Given the description of an element on the screen output the (x, y) to click on. 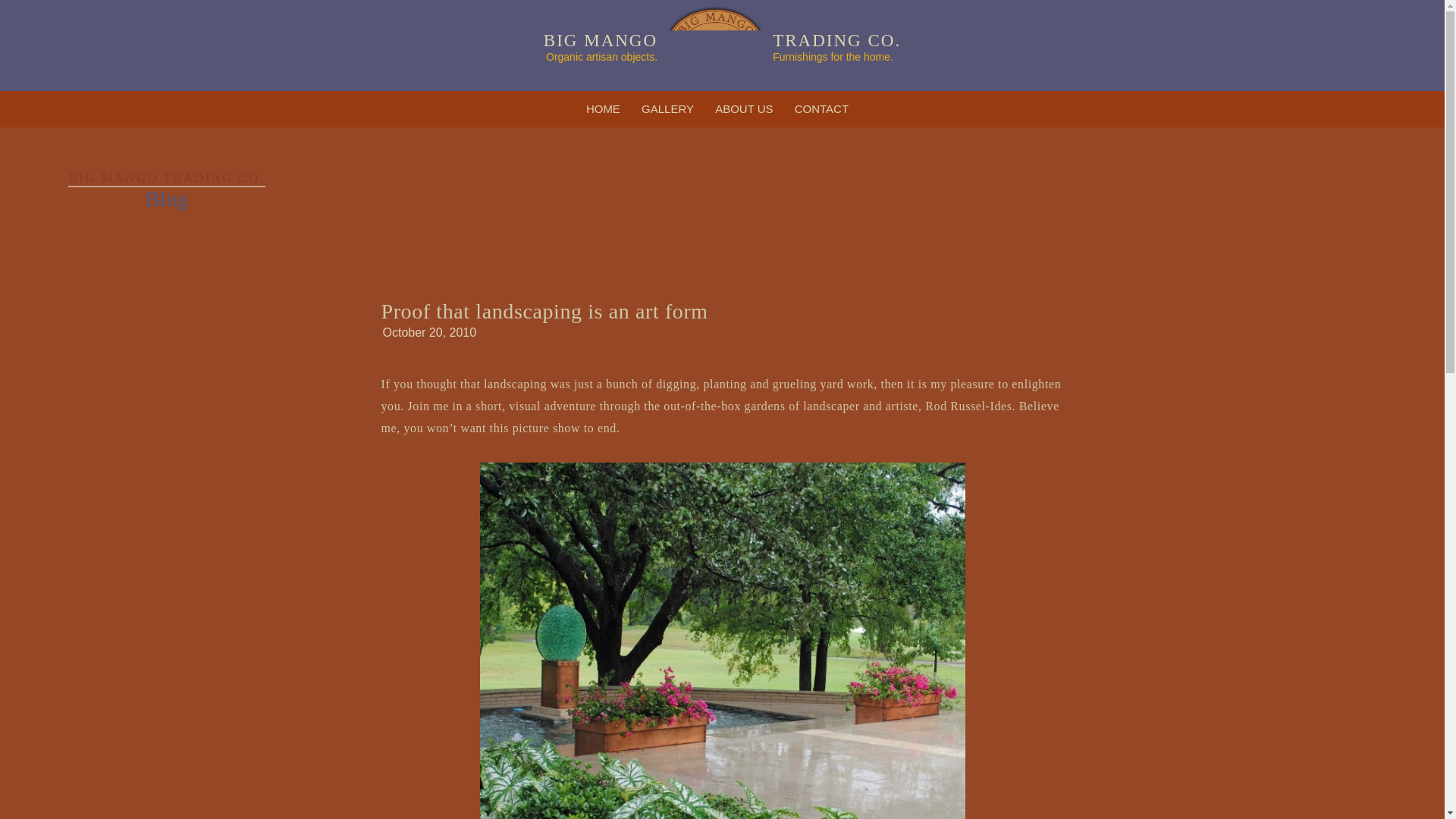
October 20, 2010 (428, 332)
GALLERY (667, 108)
ABOUT US (743, 108)
CONTACT (821, 108)
HOME (602, 108)
